Given the description of an element on the screen output the (x, y) to click on. 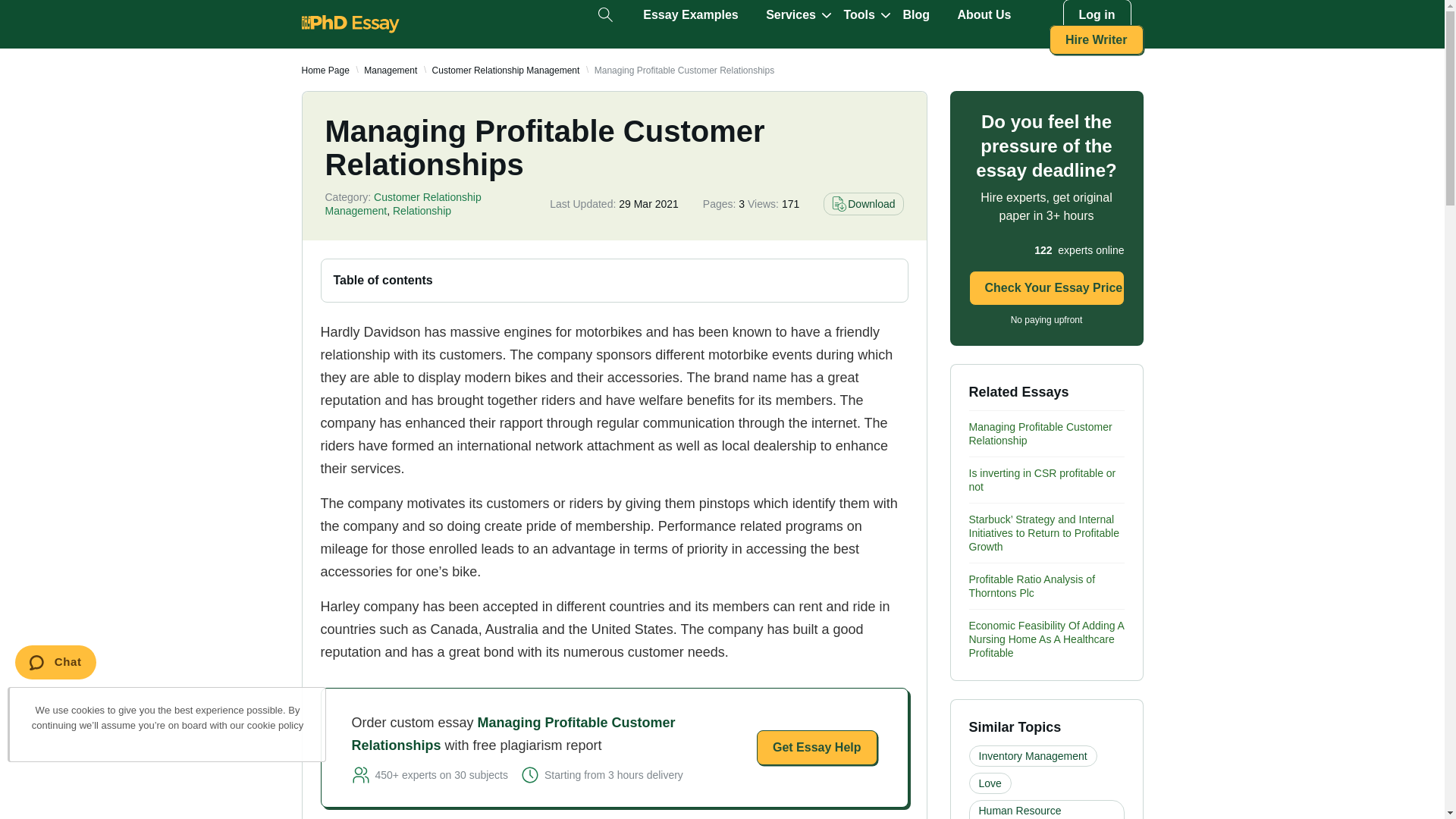
Download (863, 203)
Tools (859, 15)
Management (390, 70)
Home Page (325, 70)
Log in (1096, 15)
About Us (983, 15)
Blog (916, 15)
Services (790, 15)
Hire Writer (1095, 39)
Essay Examples (690, 15)
